Given the description of an element on the screen output the (x, y) to click on. 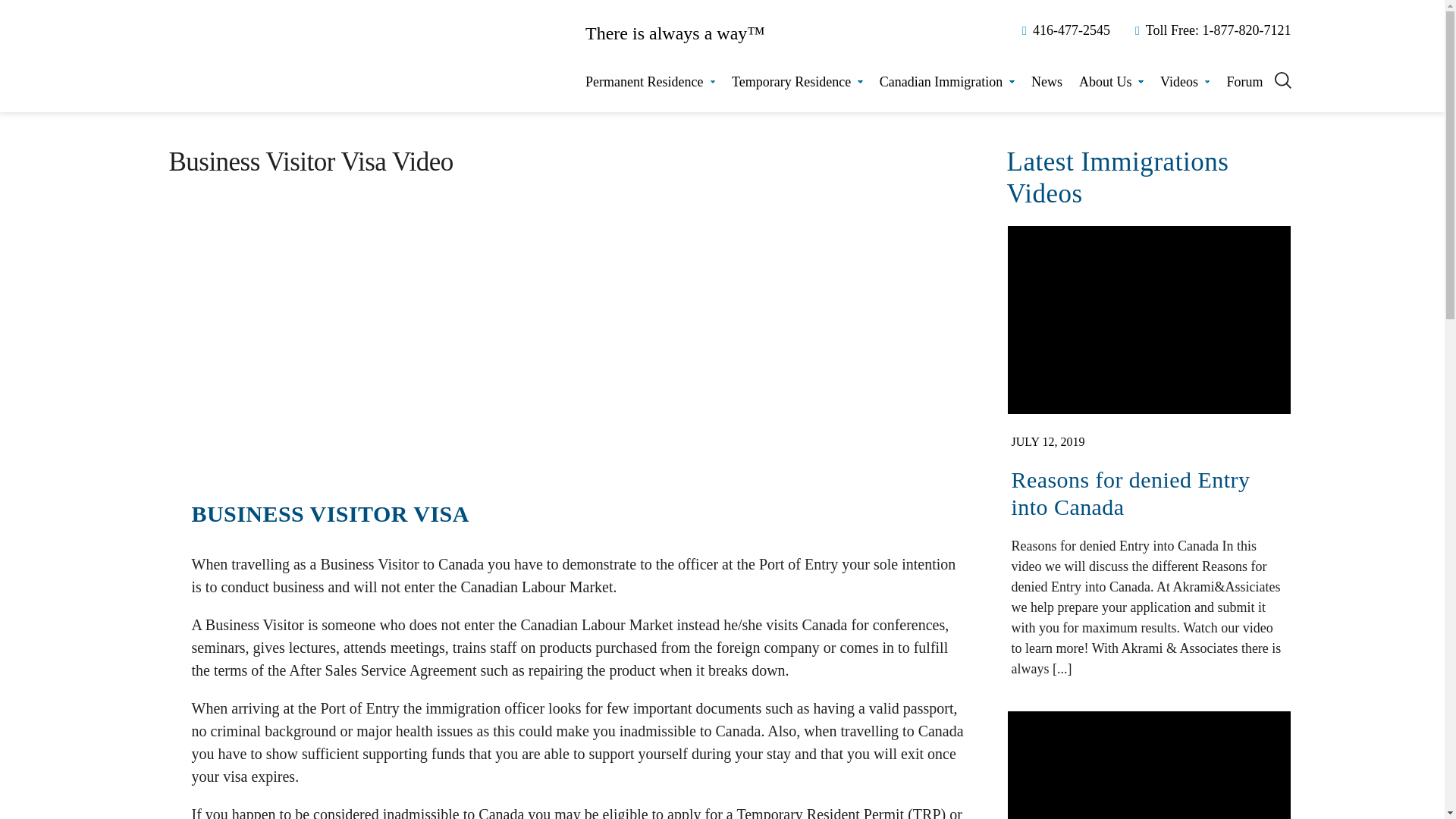
416-477-2545 (1062, 30)
Toll Free: 1-877-820-7121 (1210, 30)
Permanent Residence (649, 81)
Temporary Residence (797, 81)
Screenshot 2023-07-11 at 2.38.03 PM (1148, 320)
Screenshot 2023-07-11 at 2.16.59 PM (1148, 765)
